Given the description of an element on the screen output the (x, y) to click on. 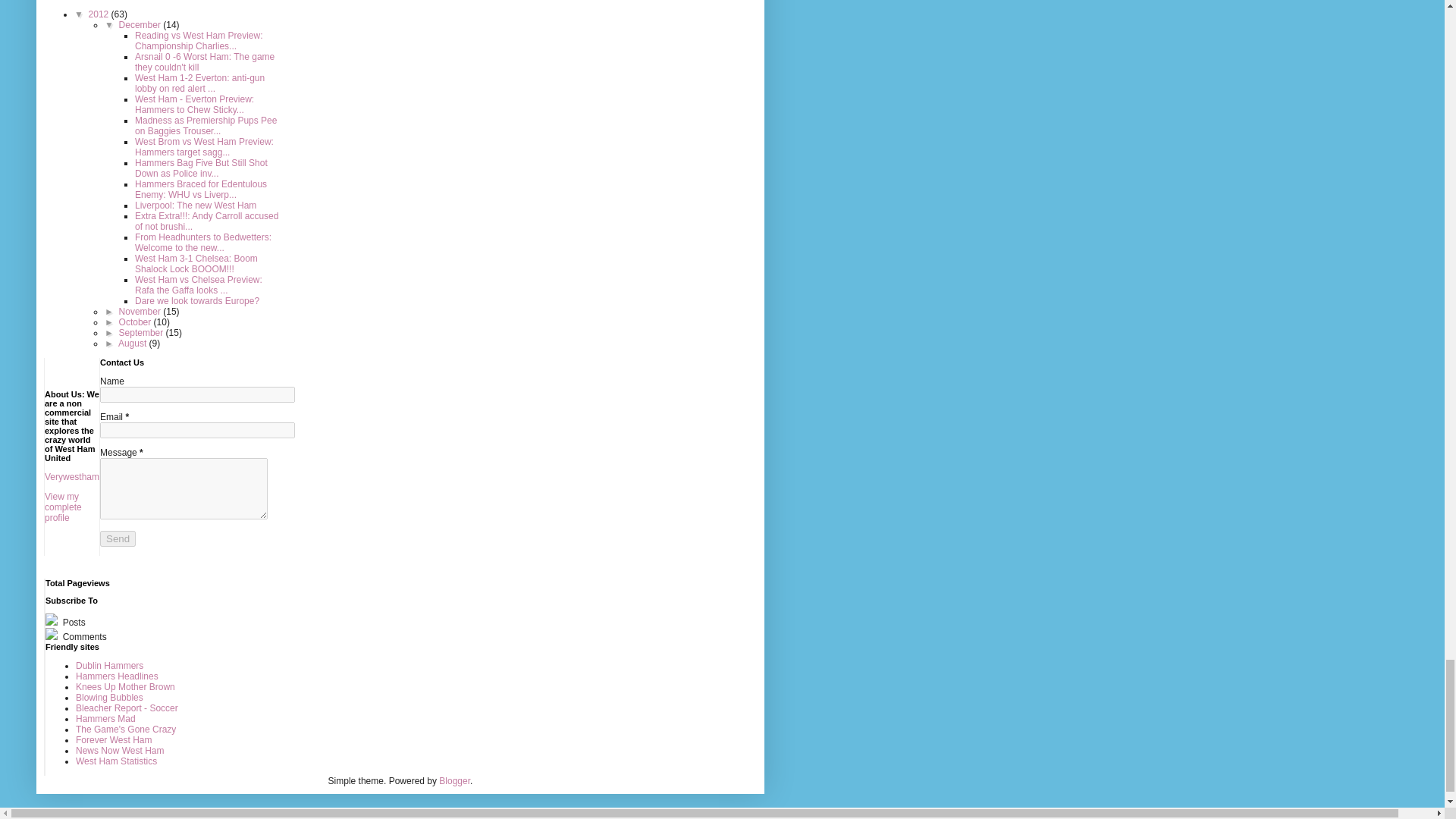
Send (117, 538)
